Given the description of an element on the screen output the (x, y) to click on. 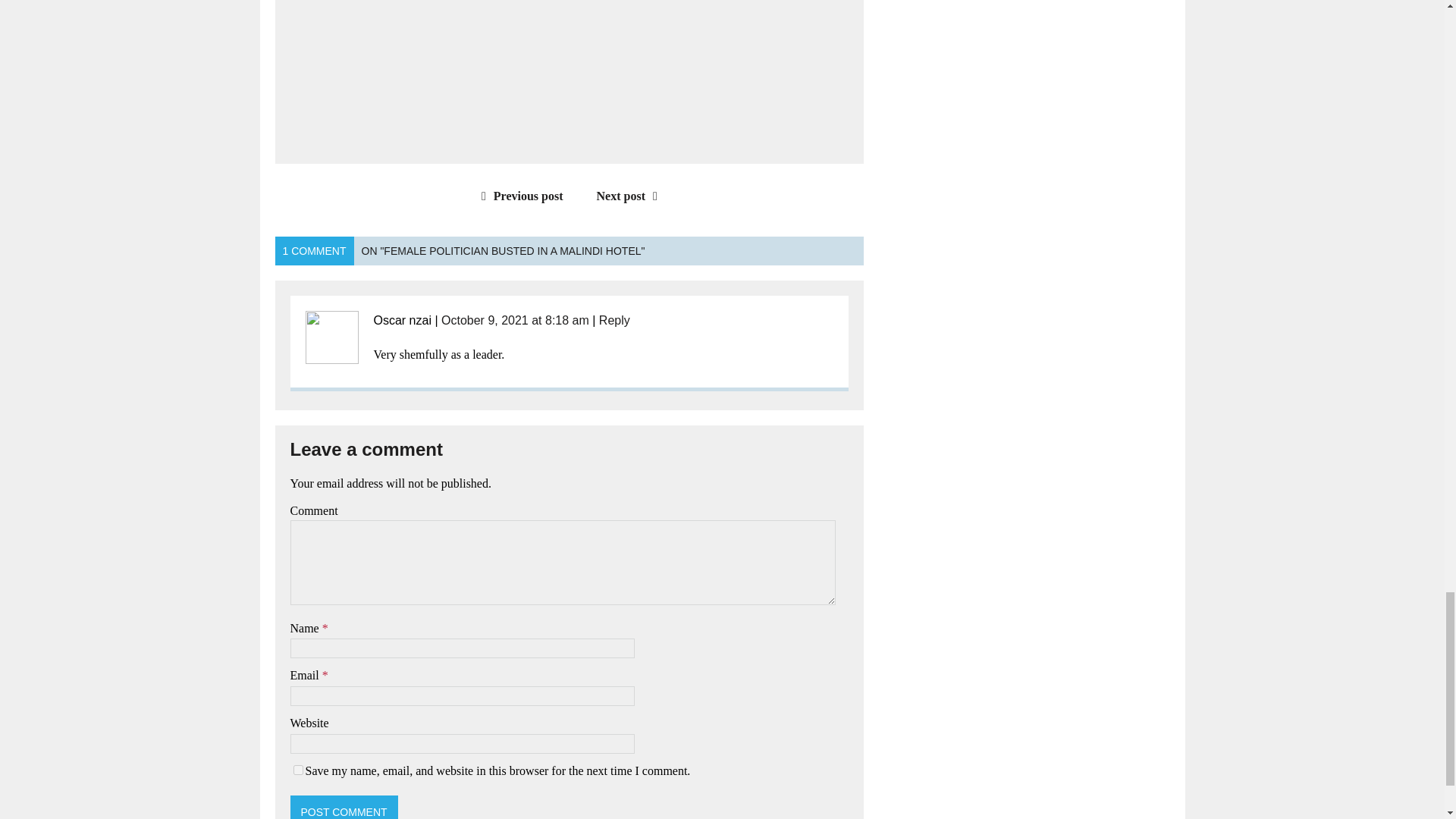
Previous post (518, 195)
Reply (614, 319)
October 9, 2021 at 8:18 am (515, 319)
Post Comment (343, 807)
Next post (630, 195)
yes (297, 768)
Post Comment (343, 807)
